Given the description of an element on the screen output the (x, y) to click on. 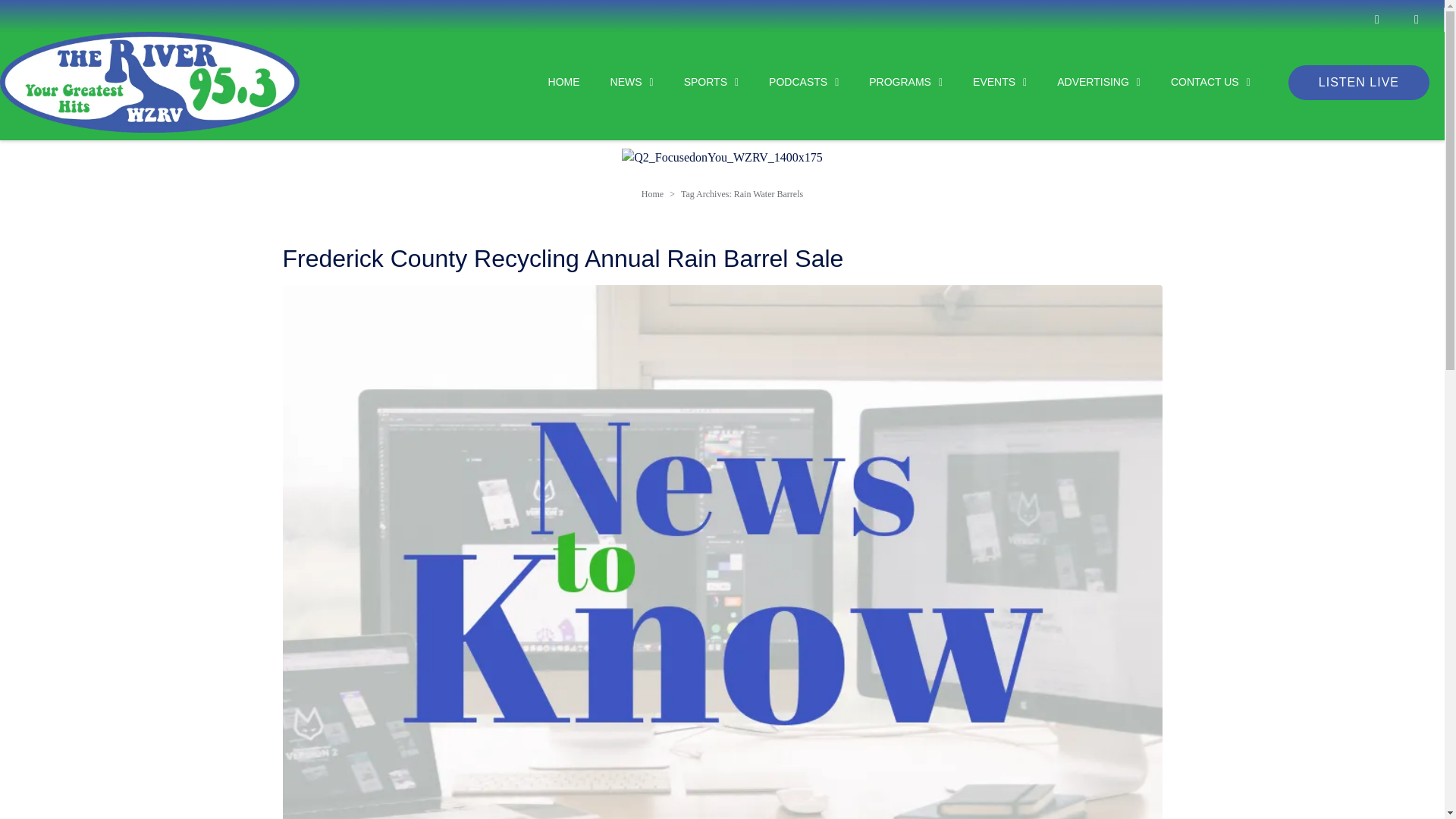
PODCASTS (788, 82)
Frederick County Recycling Annual Rain Barrel Sale (562, 257)
HOME (548, 82)
PROGRAMS (890, 82)
NEWS (616, 82)
Frederick County Recycling Annual Rain Barrel Sale (721, 652)
SPORTS (695, 82)
